Given the description of an element on the screen output the (x, y) to click on. 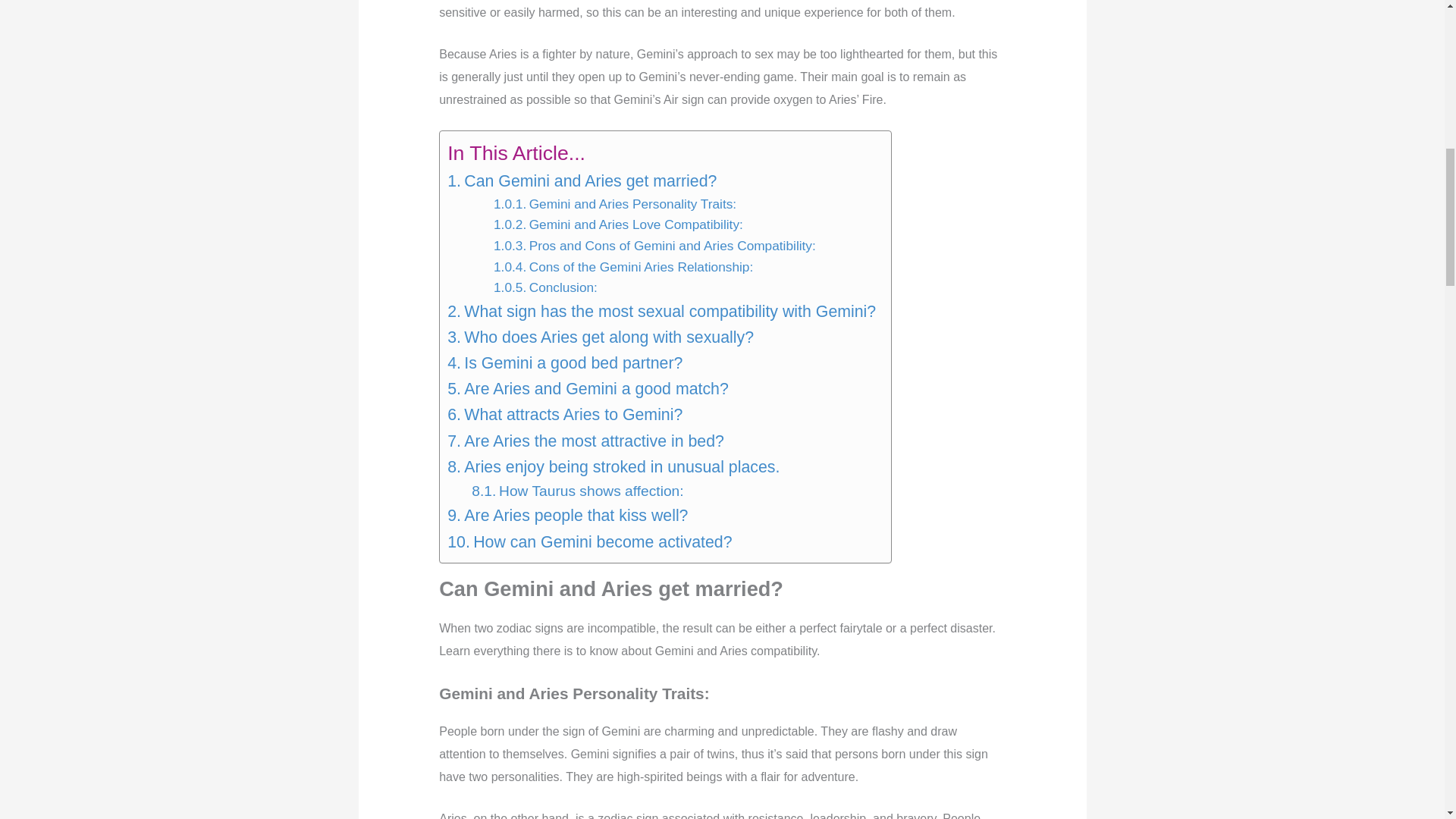
How can Gemini become activated? (589, 542)
Pros and Cons of Gemini and Aries Compatibility: (654, 246)
Can Gemini and Aries get married? (581, 181)
Are Aries the most attractive in bed? (584, 440)
How Taurus shows affection: (576, 491)
Can Gemini and Aries get married? (581, 181)
Aries enjoy being stroked in unusual places. (612, 466)
Cons of the Gemini Aries Relationship: (622, 267)
Who does Aries get along with sexually? (600, 337)
Are Aries people that kiss well? (566, 515)
Conclusion: (544, 287)
Gemini and Aries Personality Traits: (614, 204)
What sign has the most sexual compatibility with Gemini? (661, 311)
Is Gemini a good bed partner? (564, 362)
Gemini and Aries Love Compatibility: (617, 224)
